Given the description of an element on the screen output the (x, y) to click on. 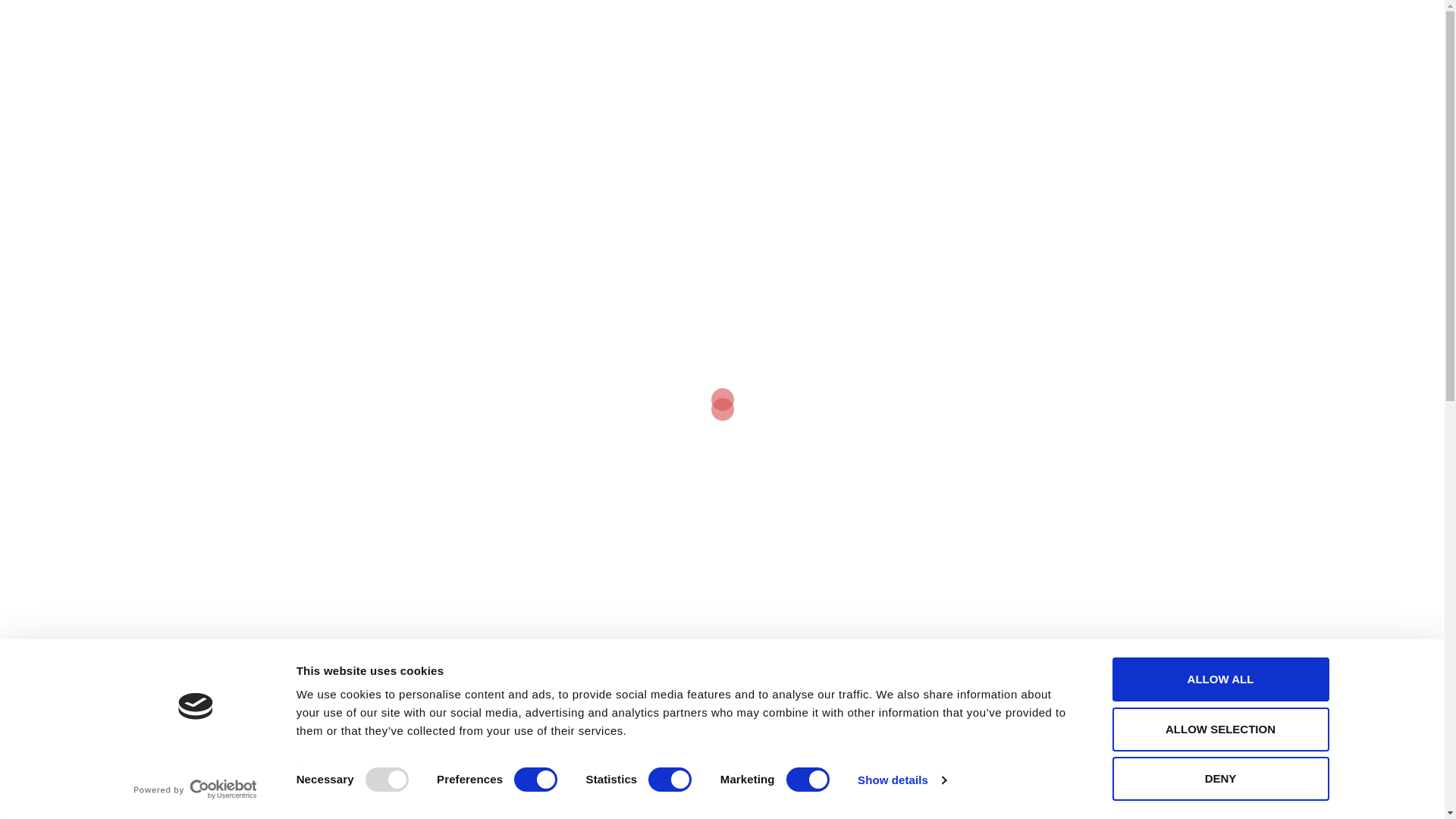
ALLOW SELECTION (1219, 728)
ALLOW ALL (1219, 679)
HOME (793, 24)
GALLERY (899, 42)
Show details (900, 780)
CONTACT US (978, 42)
DENY (1219, 778)
ABOUT US (856, 24)
